Given the description of an element on the screen output the (x, y) to click on. 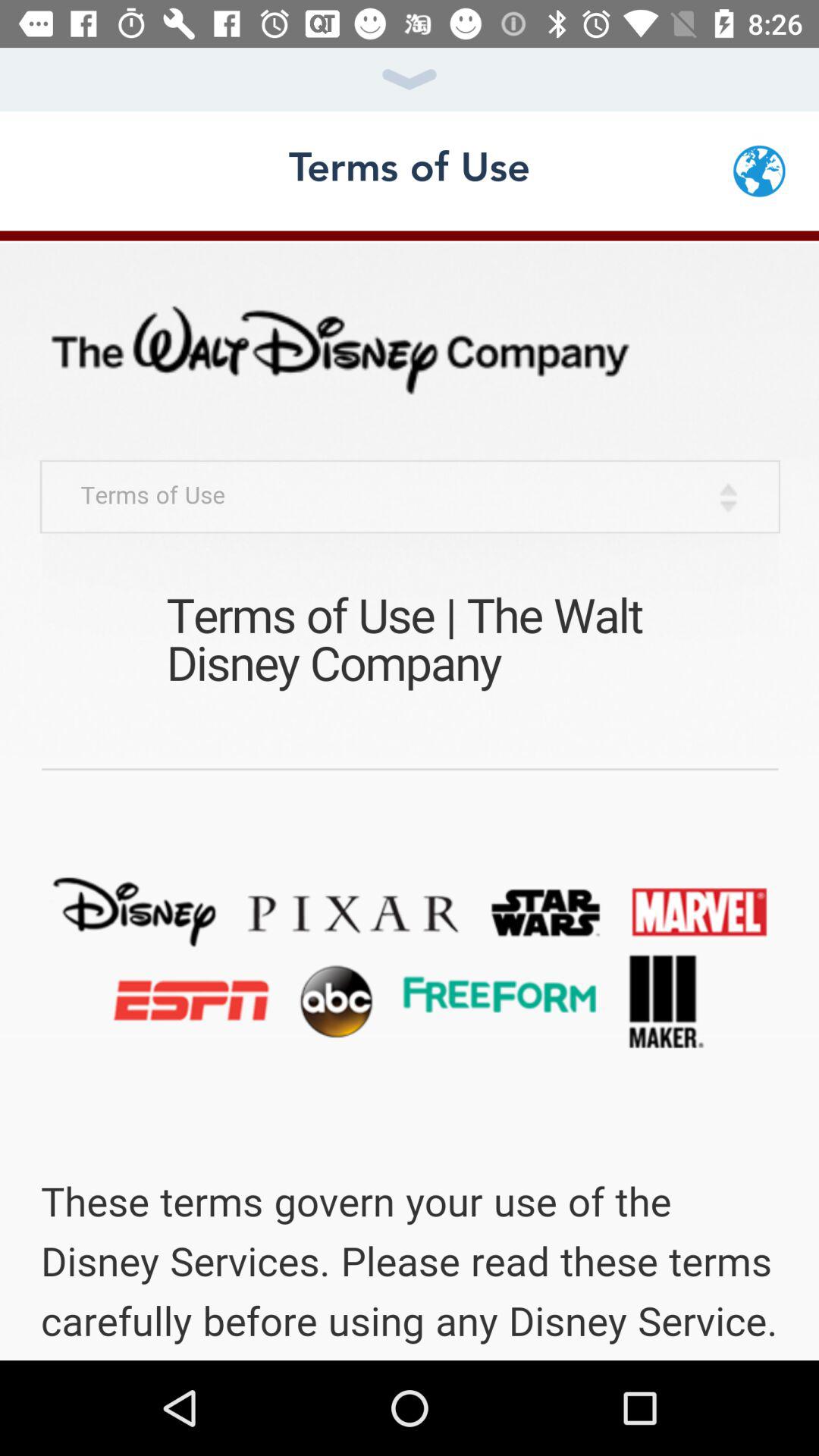
screen page (409, 795)
